Given the description of an element on the screen output the (x, y) to click on. 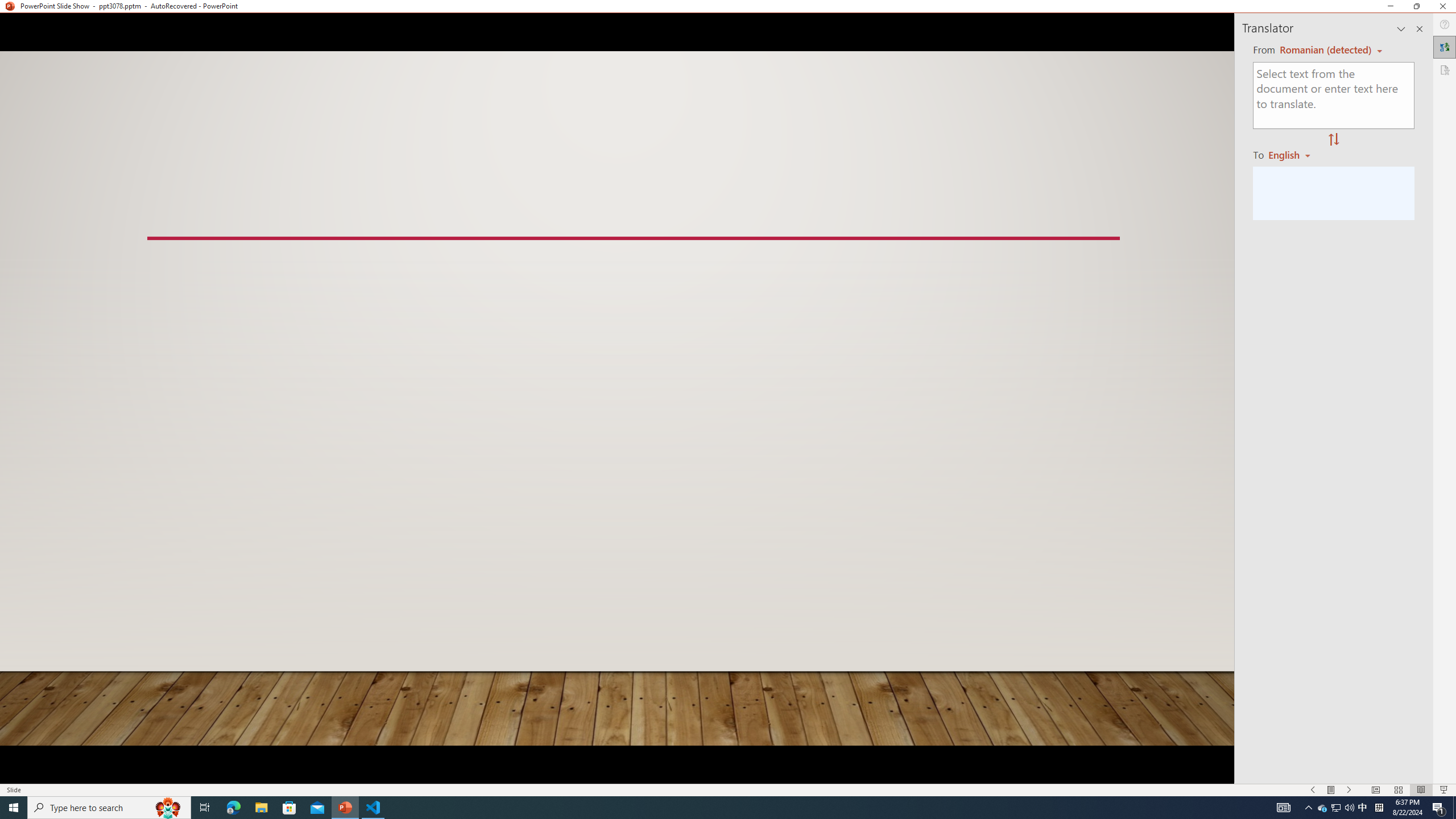
Slide Show Next On (1349, 790)
Menu On (1331, 790)
